Given the description of an element on the screen output the (x, y) to click on. 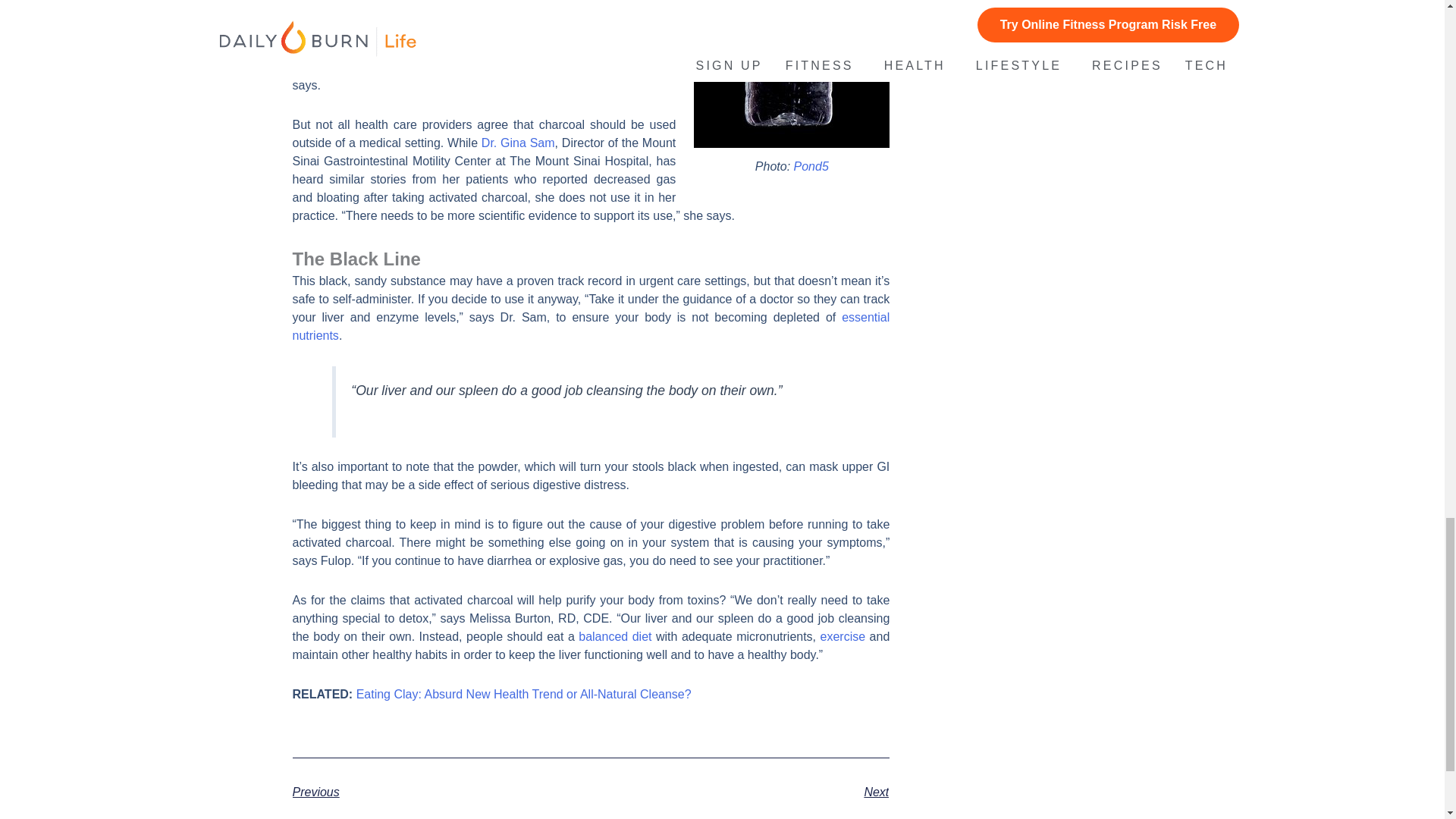
Activated Charcoal Drink (791, 74)
